Given the description of an element on the screen output the (x, y) to click on. 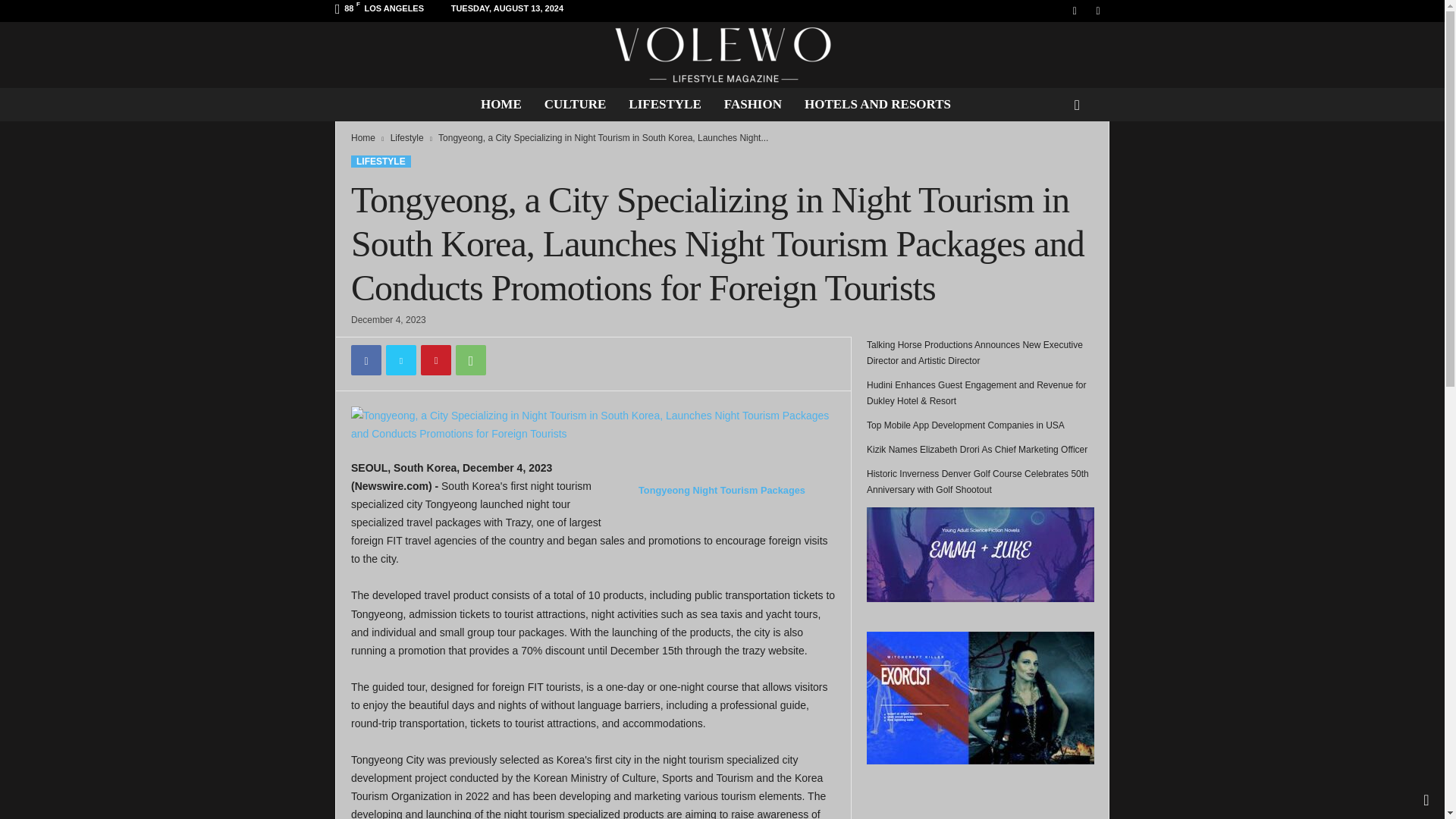
CULTURE (574, 104)
HOTELS AND RESORTS (877, 104)
Lifestyle (406, 137)
WhatsApp (470, 359)
Facebook (365, 359)
LIFESTYLE (664, 104)
HOME (500, 104)
FASHION (753, 104)
Tongyeong Night Tourism Packages (722, 499)
Home (362, 137)
